Given the description of an element on the screen output the (x, y) to click on. 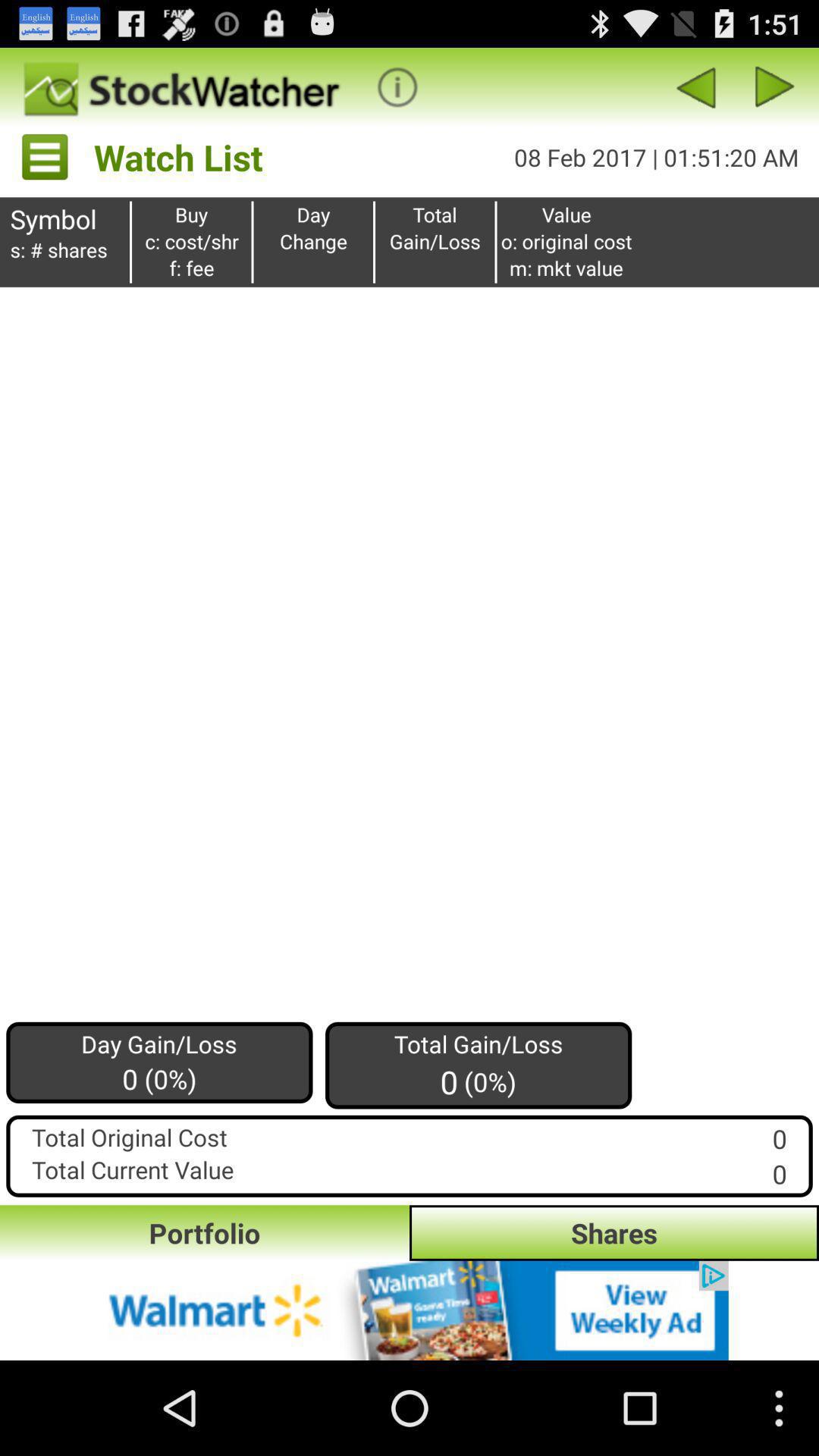
open advertisement (409, 1310)
